Given the description of an element on the screen output the (x, y) to click on. 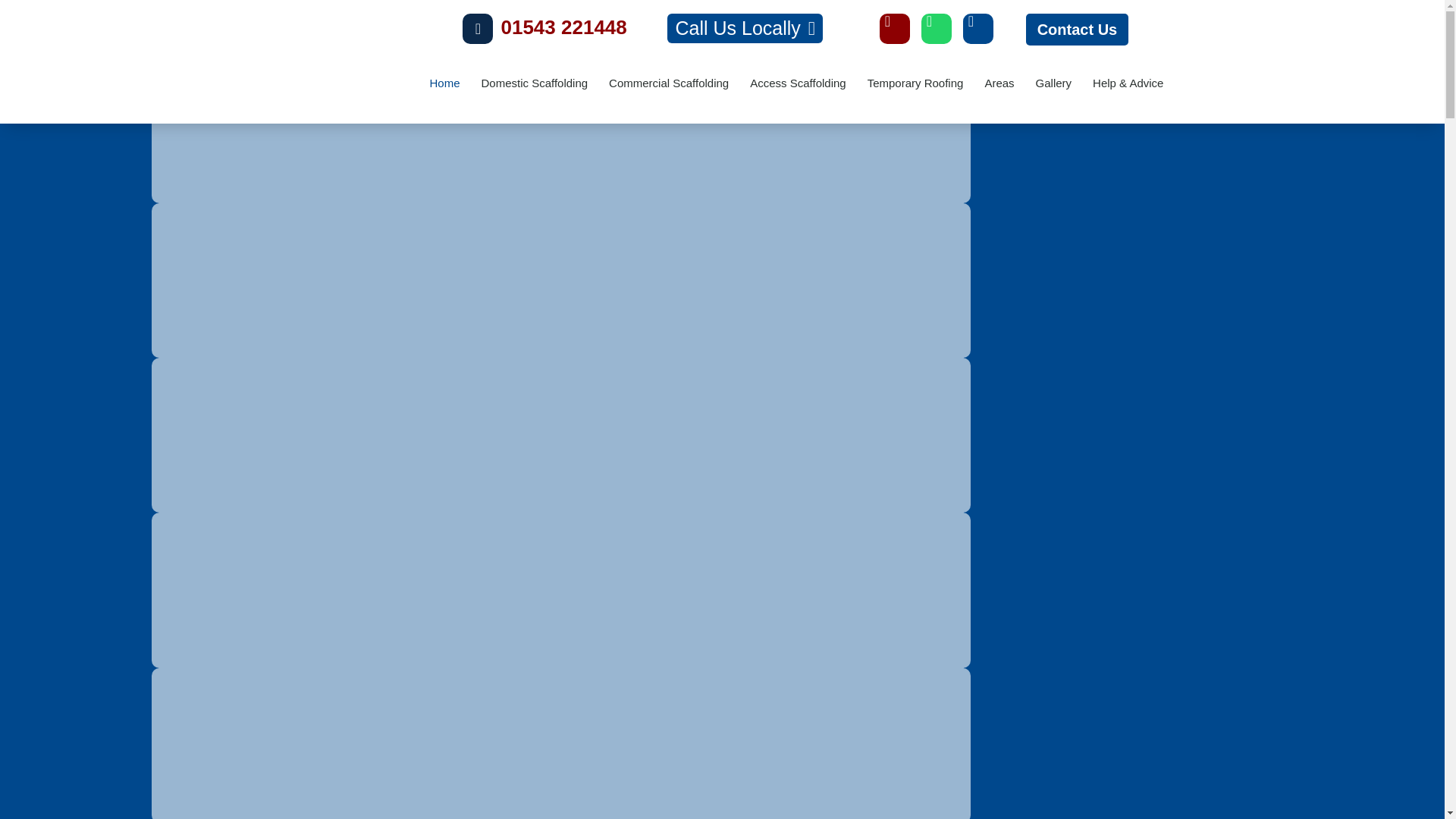
Google (977, 28)
Areas (999, 83)
Contact Us (1077, 29)
Whatsapp (936, 28)
Home (444, 83)
Temporary Roofing (915, 83)
Domestic Scaffolding (534, 83)
Call Us Locally (744, 28)
01543 221448 (563, 26)
Envelope (894, 28)
Gallery (1054, 83)
Commercial Scaffolding (668, 83)
Access Scaffolding (797, 83)
